Given the description of an element on the screen output the (x, y) to click on. 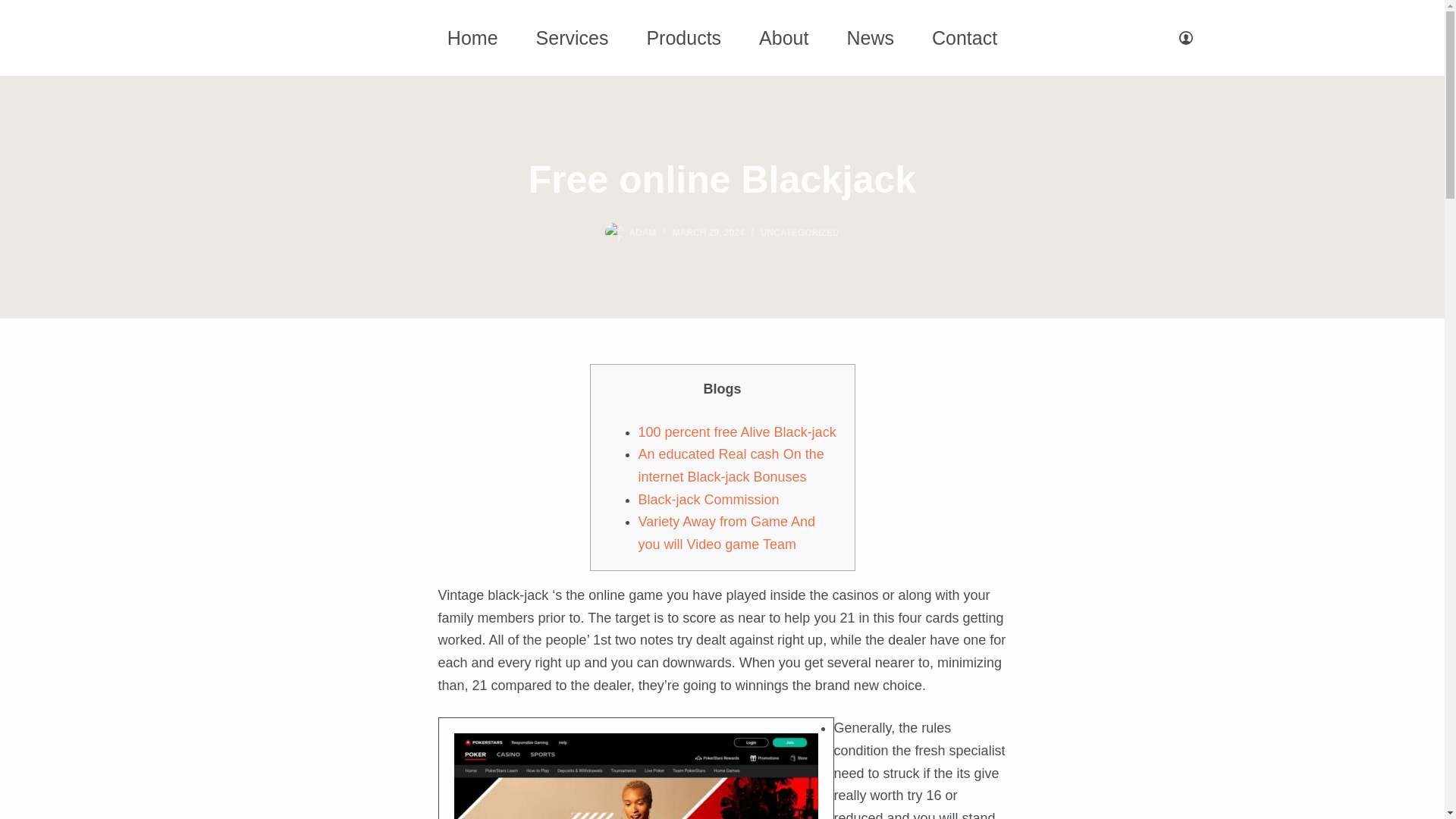
An educated Real cash On the internet Black-jack Bonuses (731, 465)
ADAM (642, 232)
UNCATEGORIZED (800, 232)
100 percent free Alive Black-jack (737, 432)
About (783, 37)
Free online Blackjack (722, 179)
News (869, 37)
Skip to content (15, 7)
Black-jack Commission (708, 499)
Services (571, 37)
